Given the description of an element on the screen output the (x, y) to click on. 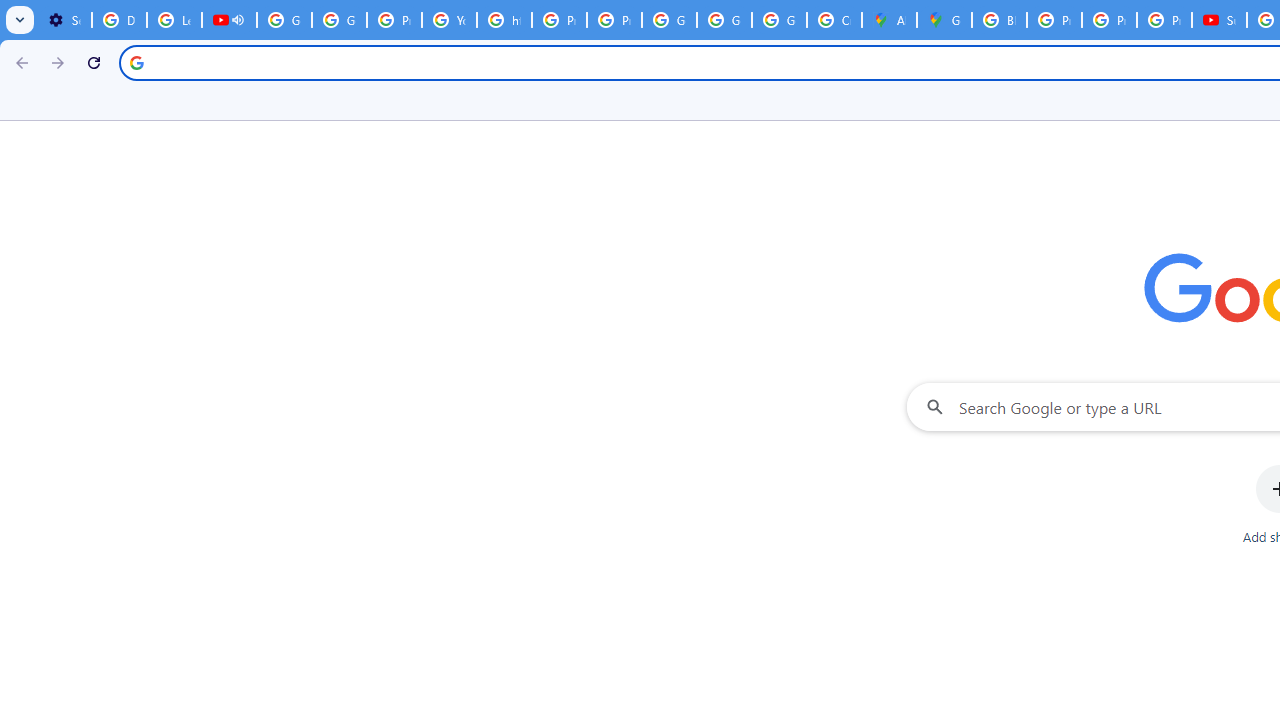
Privacy Help Center - Policies Help (559, 20)
Create your Google Account (833, 20)
Blogger Policies and Guidelines - Transparency Center (998, 20)
Delete photos & videos - Computer - Google Photos Help (119, 20)
YouTube (449, 20)
Google Maps (943, 20)
